Given the description of an element on the screen output the (x, y) to click on. 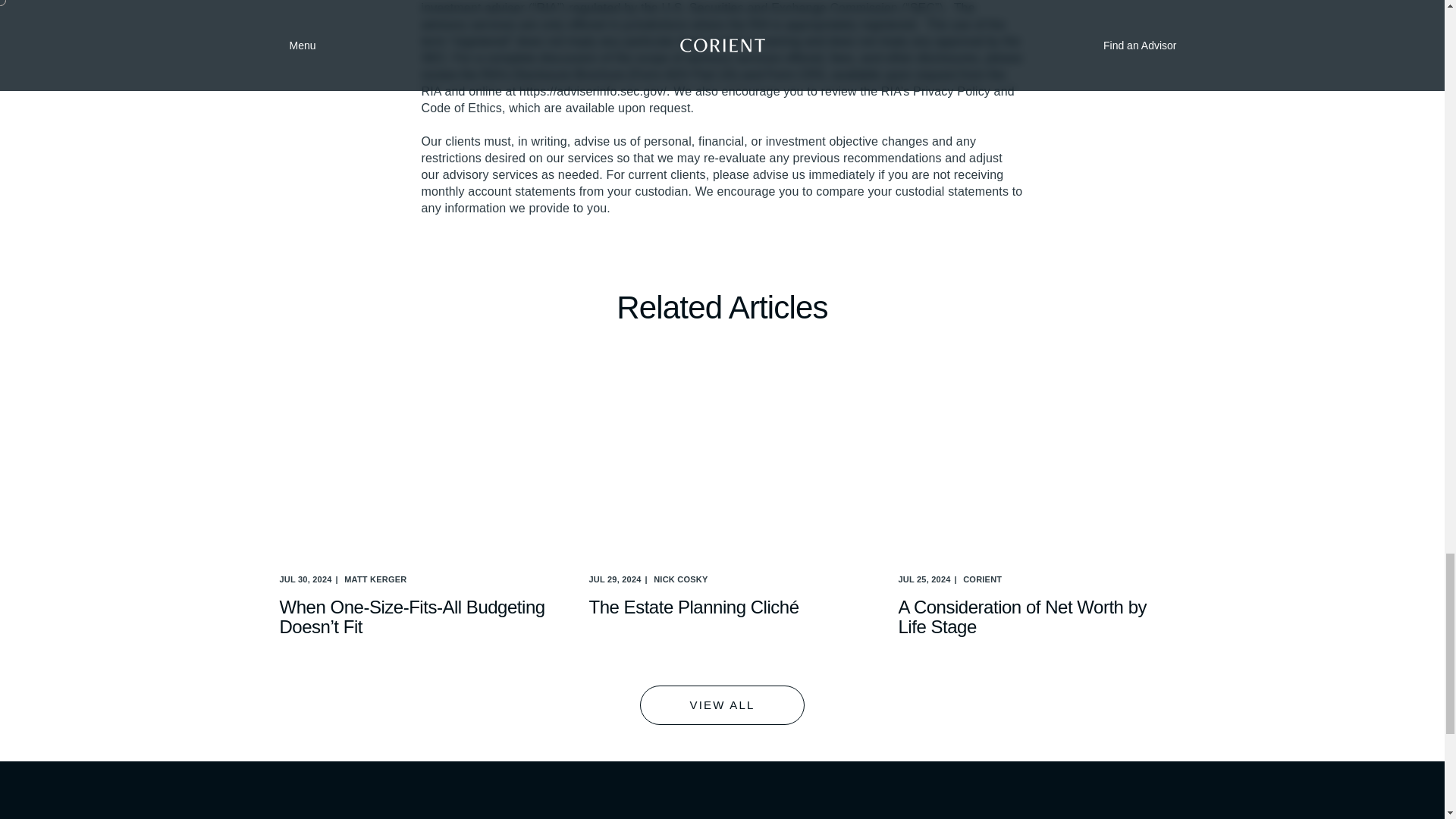
VIEW ALL (721, 704)
